Given the description of an element on the screen output the (x, y) to click on. 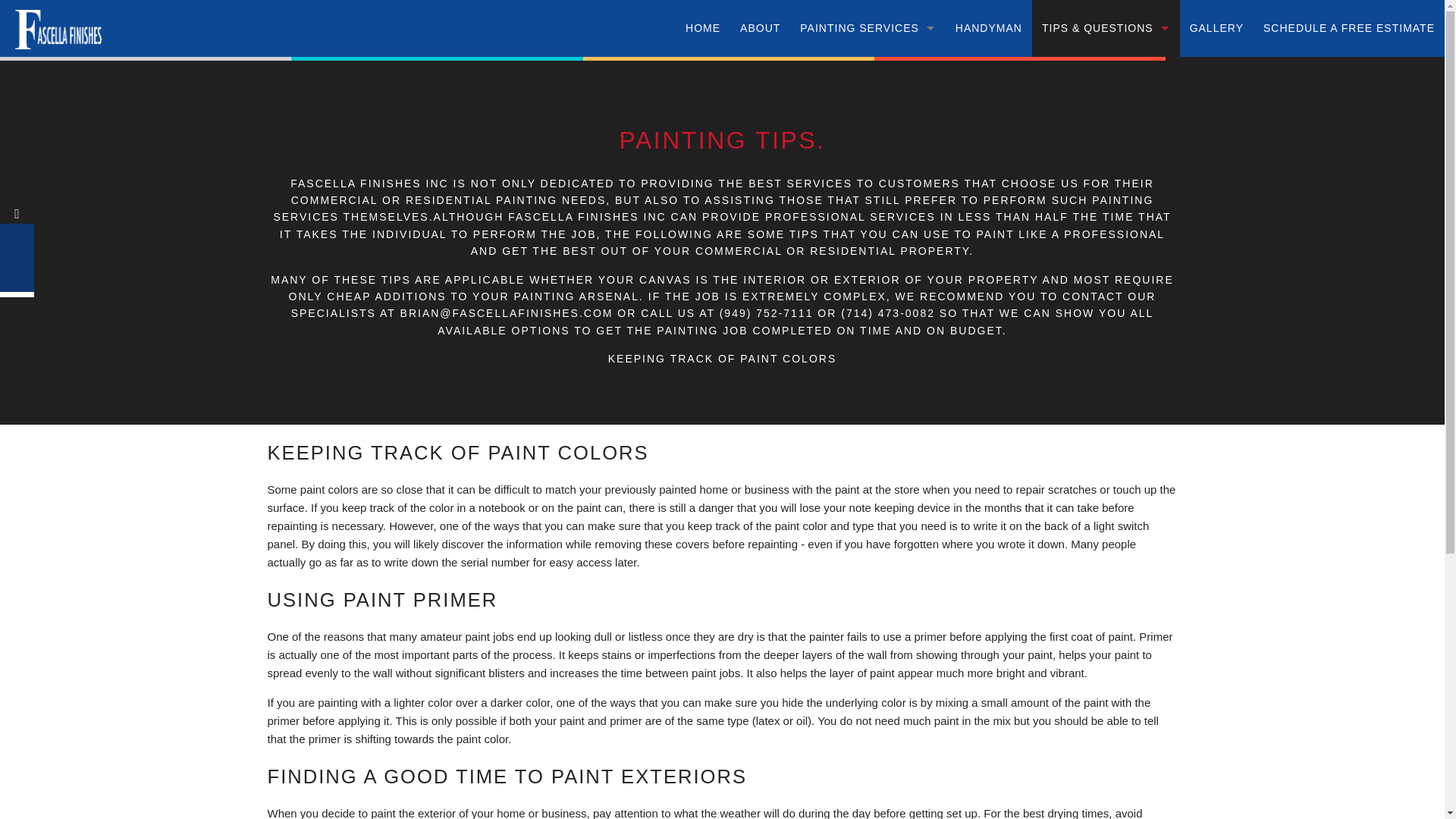
PAINTING TIPS (1105, 84)
HANDYMAN (988, 28)
GALLERY (1216, 28)
RESIDENTIAL (867, 84)
ABOUT (760, 28)
Connect with Facebook (16, 213)
HOME (702, 28)
COMMERCIAL (867, 141)
PAINTING SERVICES (867, 28)
FAQ (1105, 141)
